Given the description of an element on the screen output the (x, y) to click on. 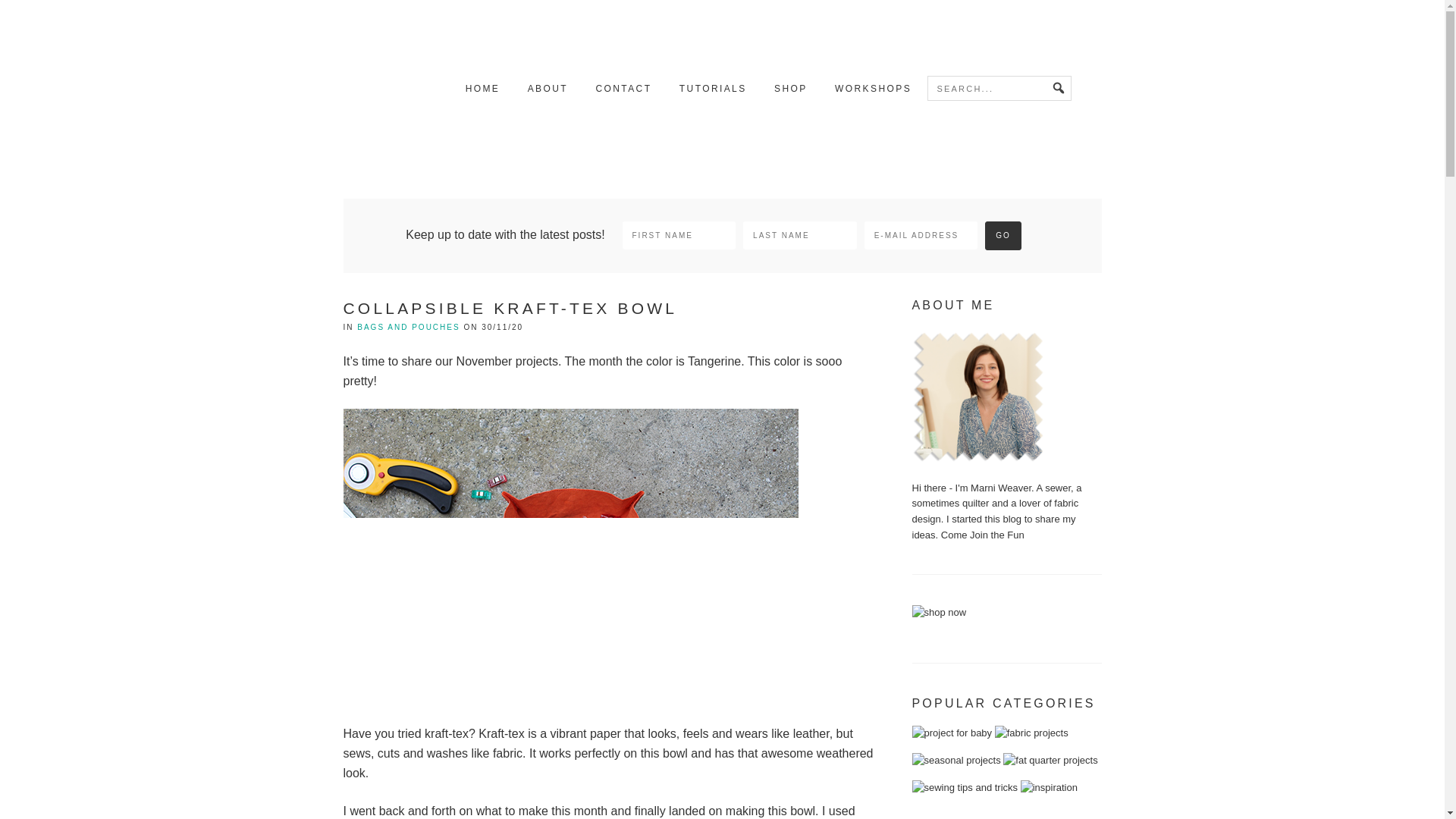
Come Join the Fun (982, 534)
Go (1003, 235)
SHOP (791, 88)
WORKSHOPS (872, 88)
Search (1048, 92)
Search (1048, 92)
Go (1003, 235)
Search (1048, 92)
CONTACT (622, 88)
TUTORIALS (712, 88)
